Given the description of an element on the screen output the (x, y) to click on. 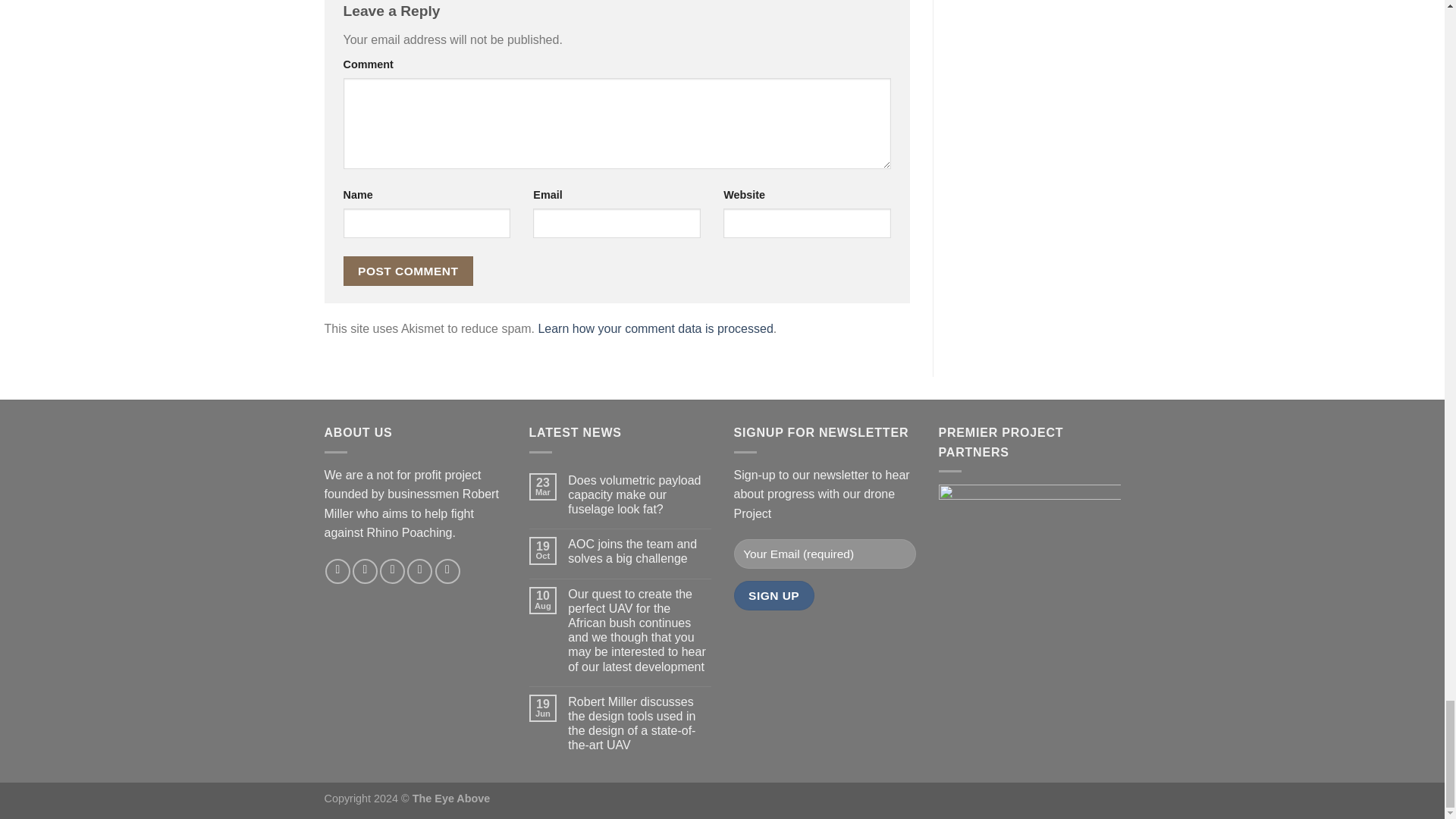
Learn how your comment data is processed (655, 328)
Post Comment (407, 270)
AOC joins the team and solves a big challenge (638, 551)
Sign Up (773, 595)
Does volumetric payload capacity make our fuselage look fat? (638, 494)
Premier Project Partners (1030, 523)
Post Comment (407, 270)
